Given the description of an element on the screen output the (x, y) to click on. 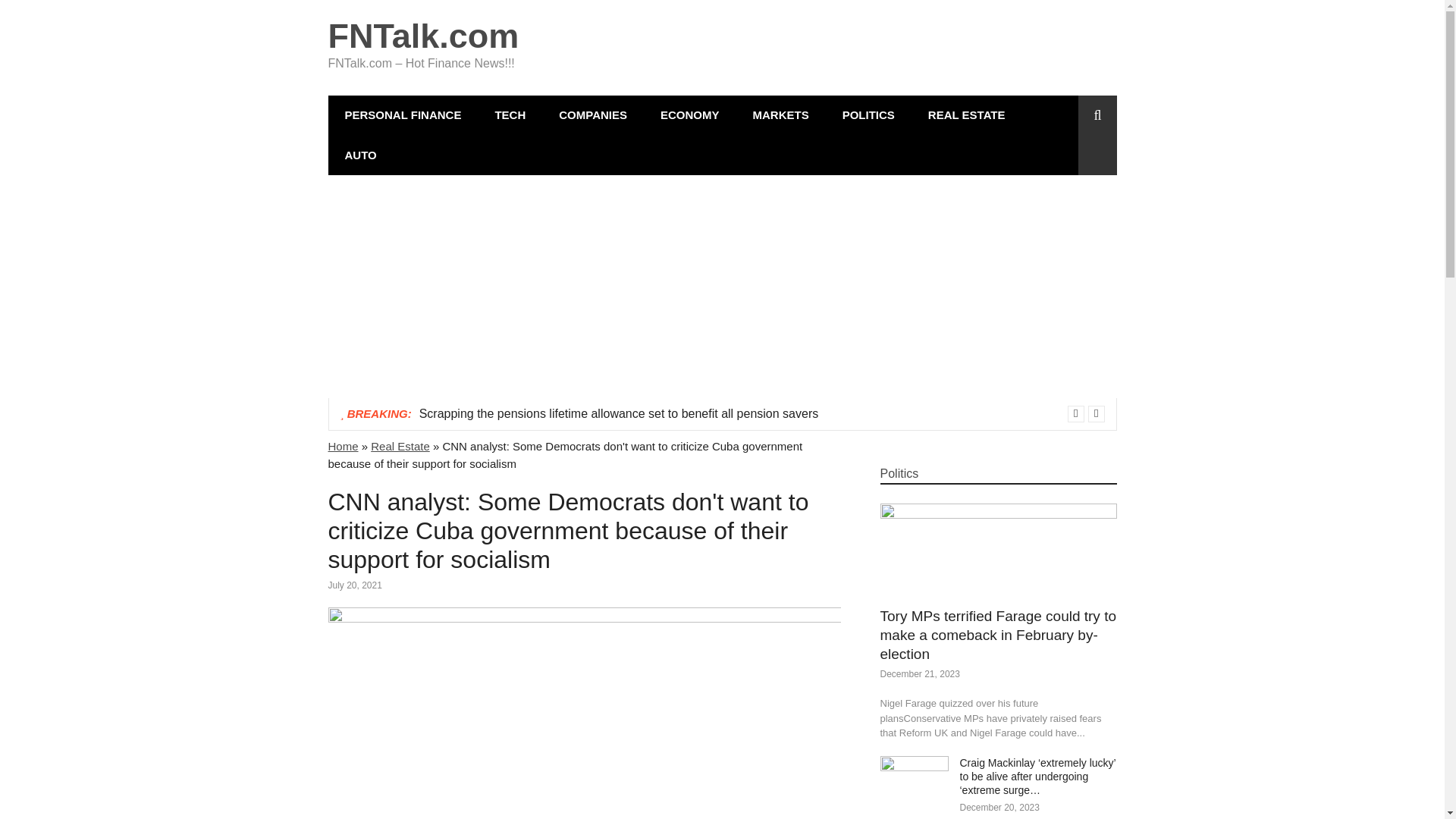
COMPANIES (592, 115)
FNTalk.com (422, 35)
MARKETS (780, 115)
Real Estate (400, 445)
ECONOMY (689, 115)
PERSONAL FINANCE (402, 115)
REAL ESTATE (966, 115)
TECH (509, 115)
